Given the description of an element on the screen output the (x, y) to click on. 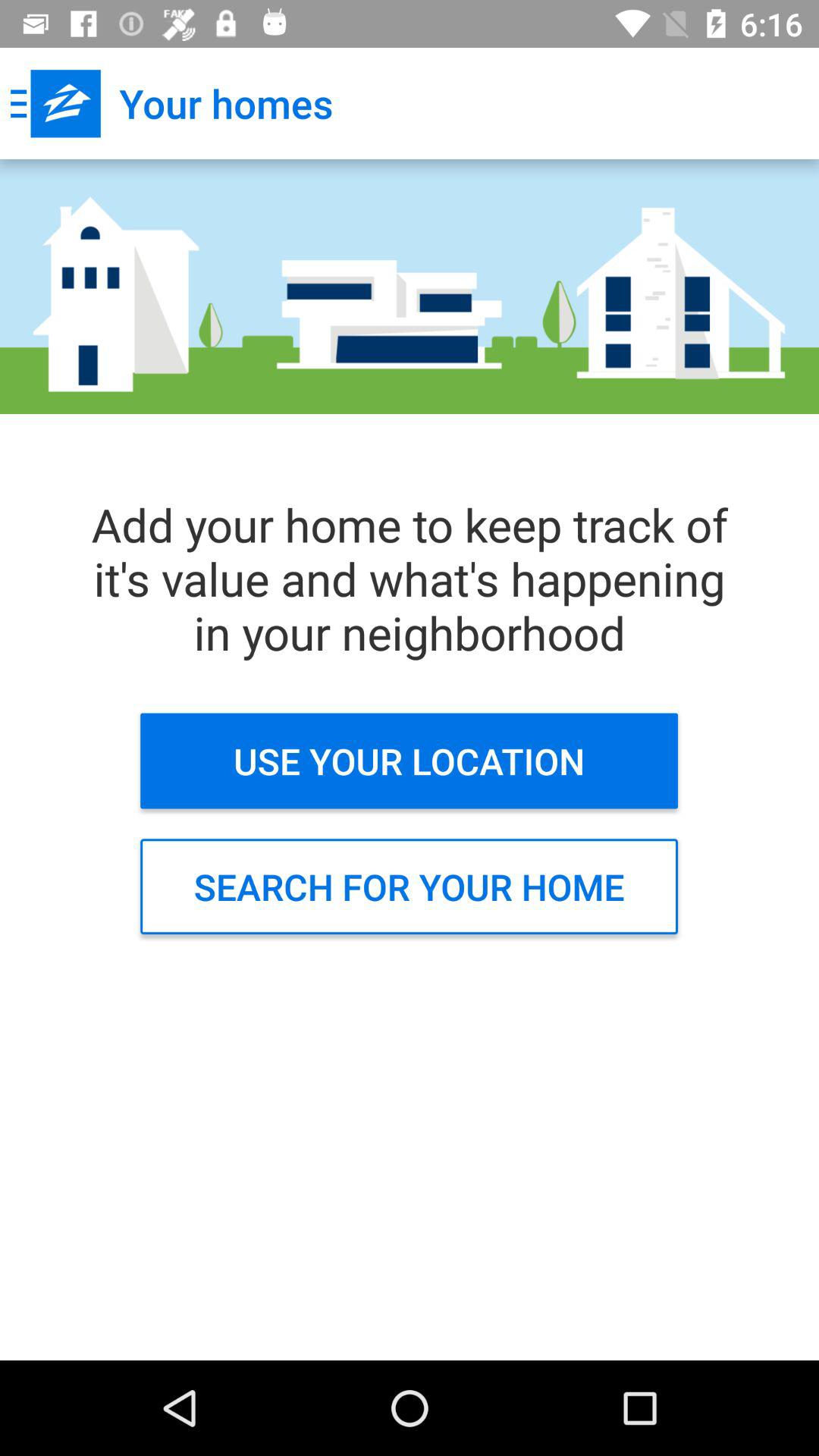
choose the item below the add your home icon (408, 760)
